Given the description of an element on the screen output the (x, y) to click on. 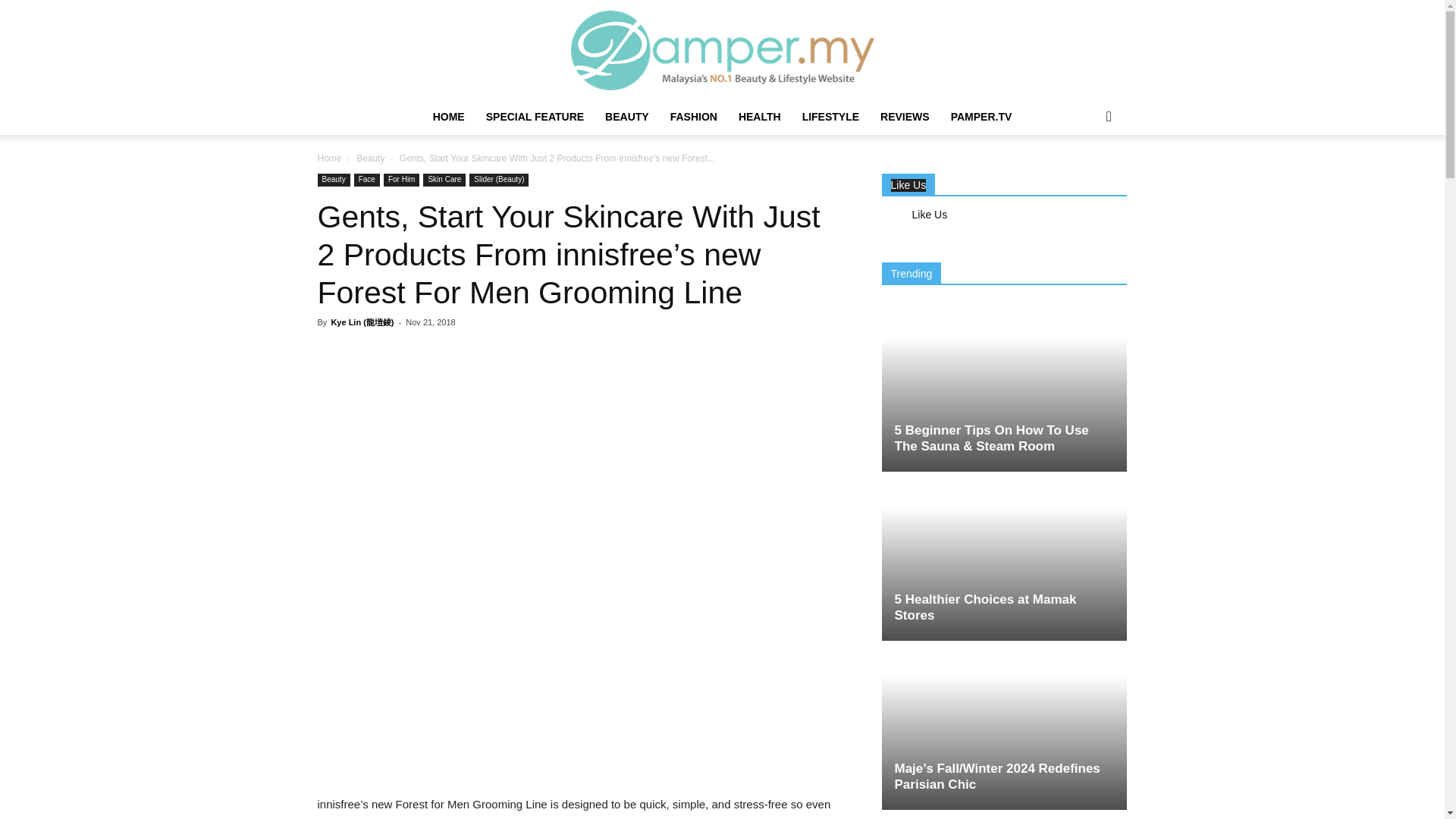
HOME (449, 116)
Pamper.My (721, 50)
SPECIAL FEATURE (535, 116)
View all posts in Beauty (370, 158)
